Given the description of an element on the screen output the (x, y) to click on. 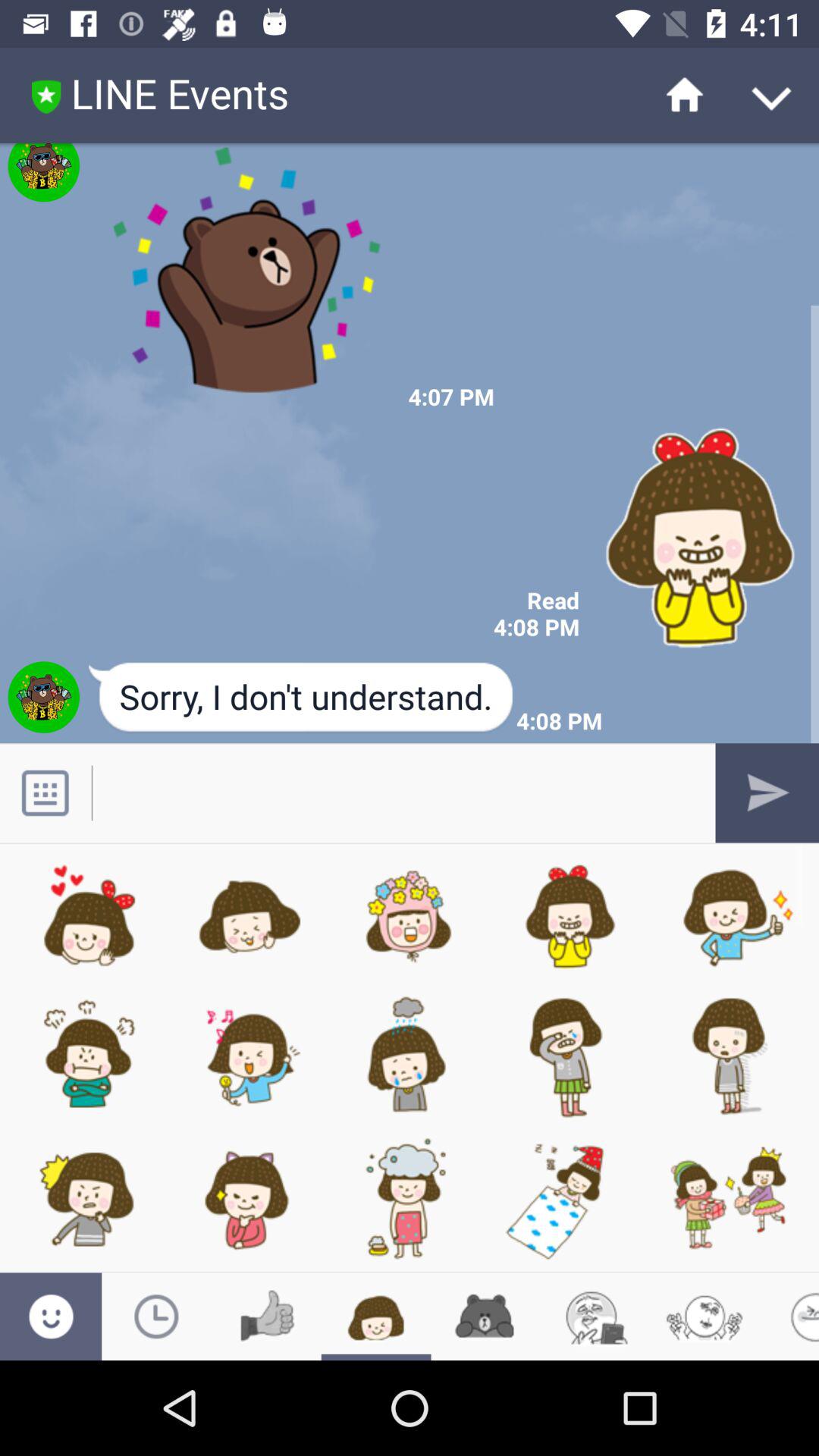
type your message (393, 792)
